Given the description of an element on the screen output the (x, y) to click on. 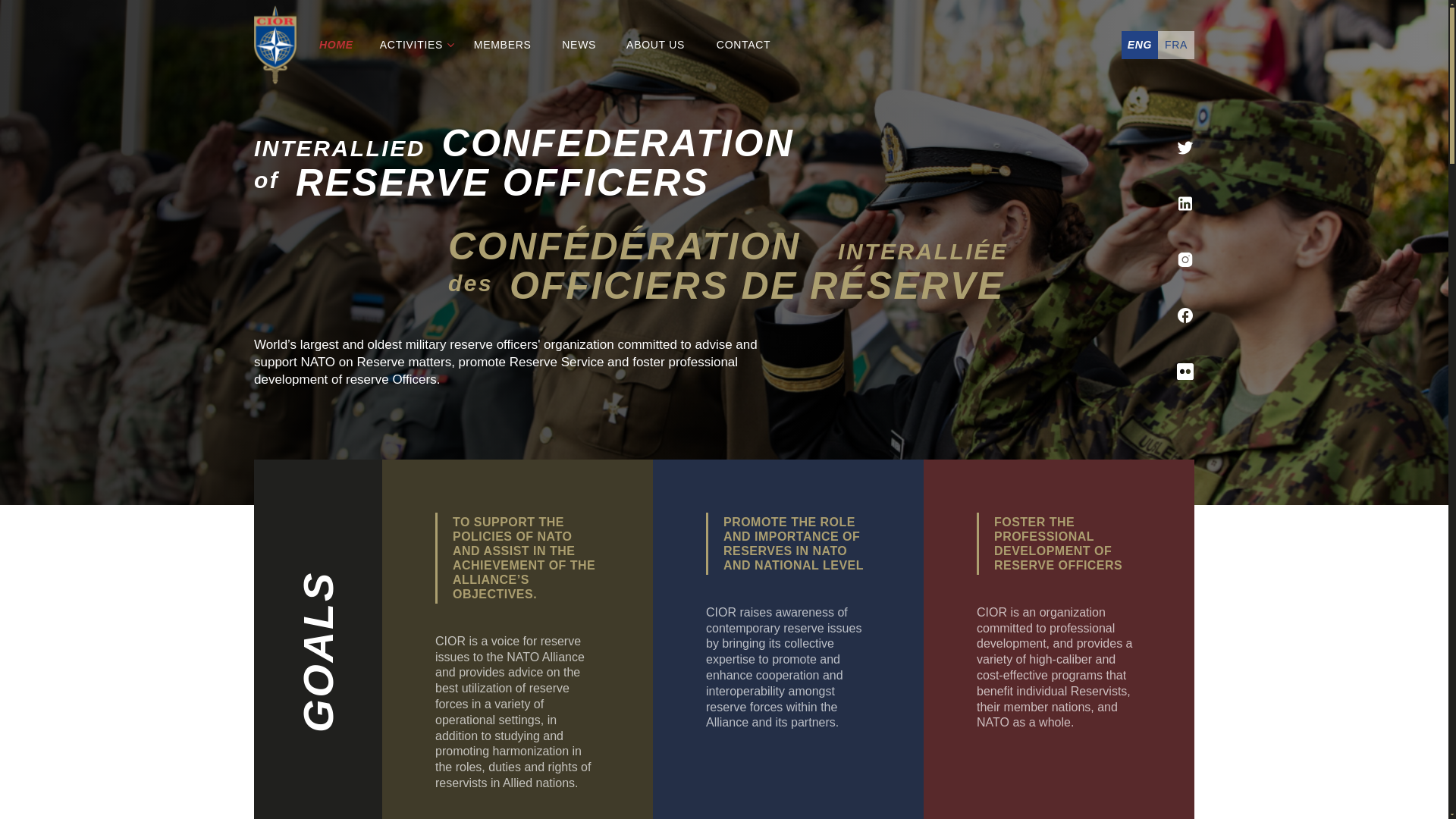
ENG (1139, 44)
FRA (1175, 44)
